Given the description of an element on the screen output the (x, y) to click on. 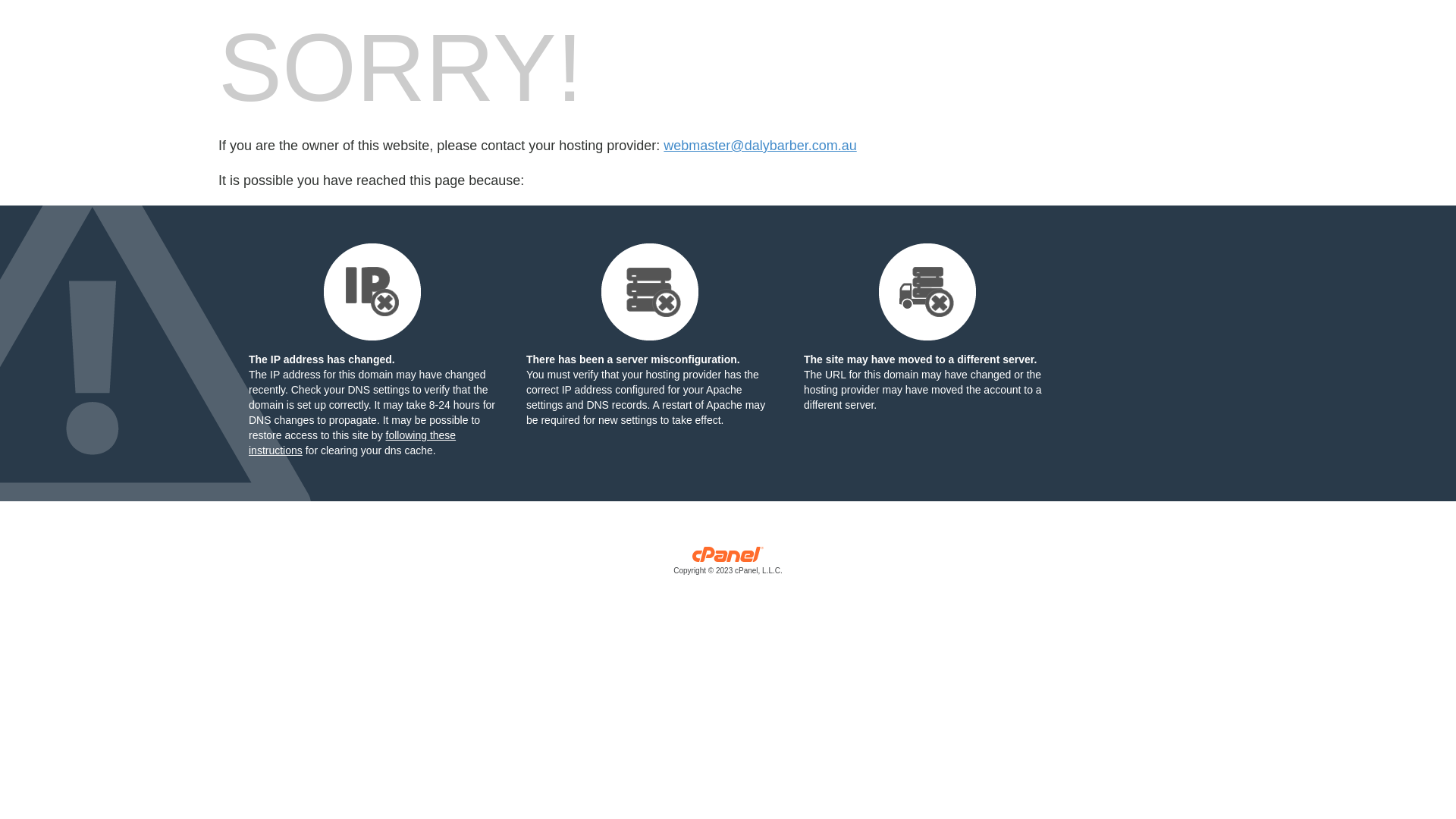
webmaster@dalybarber.com.au Element type: text (759, 145)
following these instructions Element type: text (351, 442)
